Given the description of an element on the screen output the (x, y) to click on. 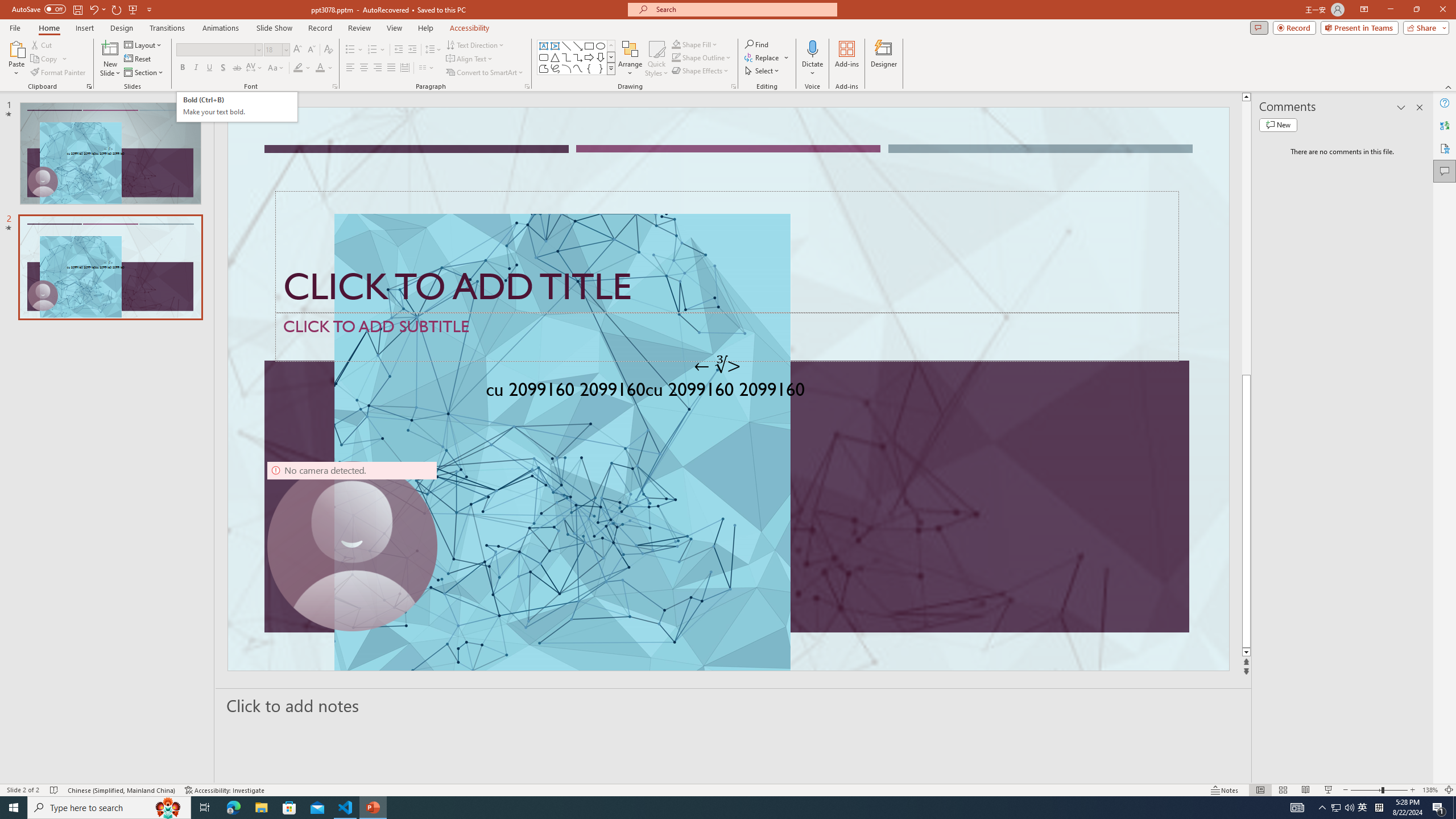
Save (77, 9)
Comments (1444, 170)
Title TextBox (727, 251)
Bullets (354, 49)
Arrange (630, 58)
Zoom to Fit  (1449, 790)
Font Color Red (320, 67)
Subtitle TextBox (727, 336)
Redo (117, 9)
AutoSave (38, 9)
Rectangle (589, 45)
Font Color (324, 67)
Format Object... (733, 85)
